Given the description of an element on the screen output the (x, y) to click on. 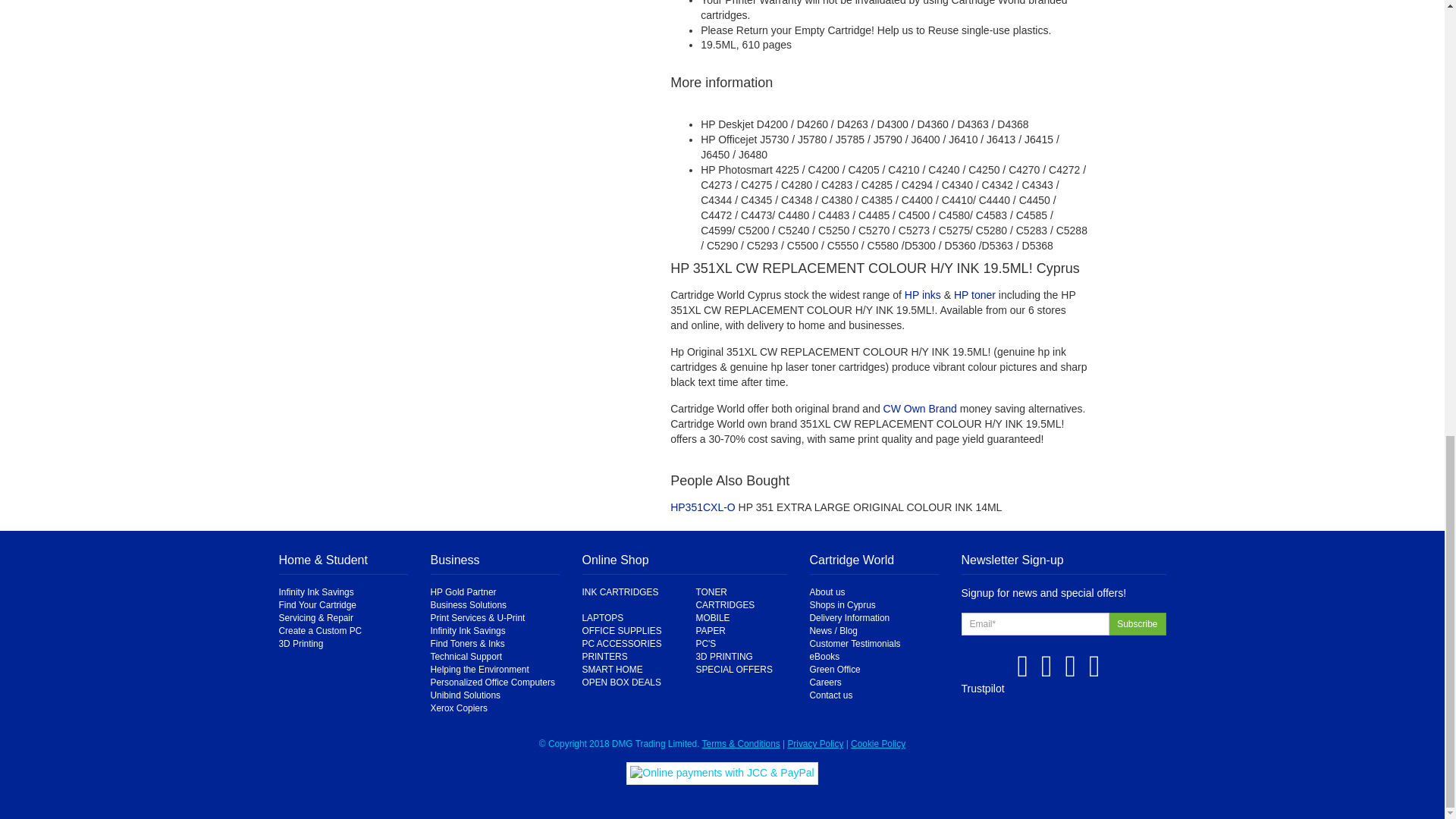
HP inks (922, 295)
HP toner (974, 295)
CW Own Brand (919, 408)
CW own brand cartridges (919, 408)
HP toner (974, 295)
Hp inks (922, 295)
